Given the description of an element on the screen output the (x, y) to click on. 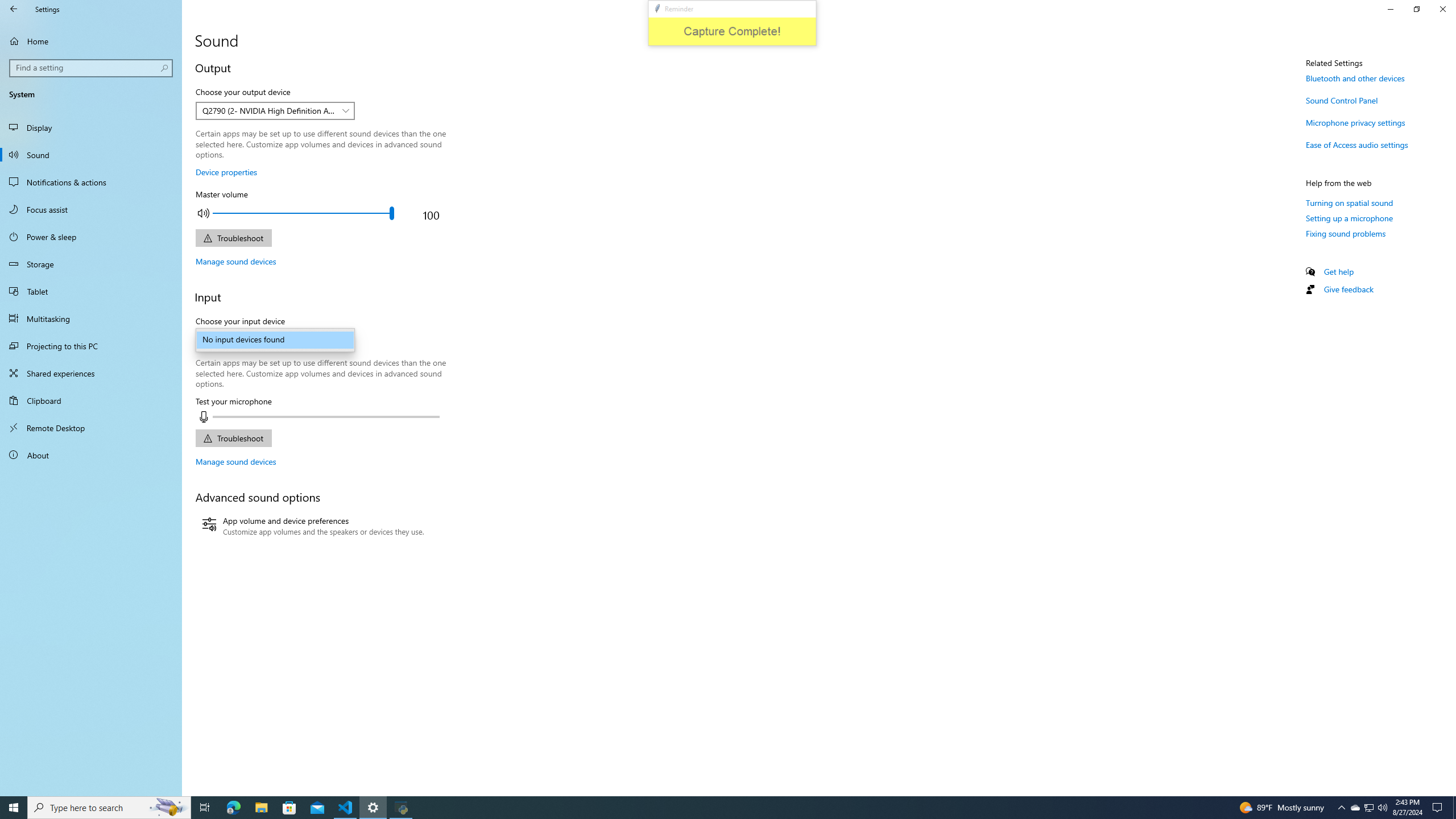
About (91, 454)
Projecting to this PC (91, 345)
Ease of Access audio settings (1356, 144)
Bluetooth and other devices (1355, 77)
Notifications & actions (91, 181)
Power & sleep (91, 236)
Tablet (91, 290)
